Given the description of an element on the screen output the (x, y) to click on. 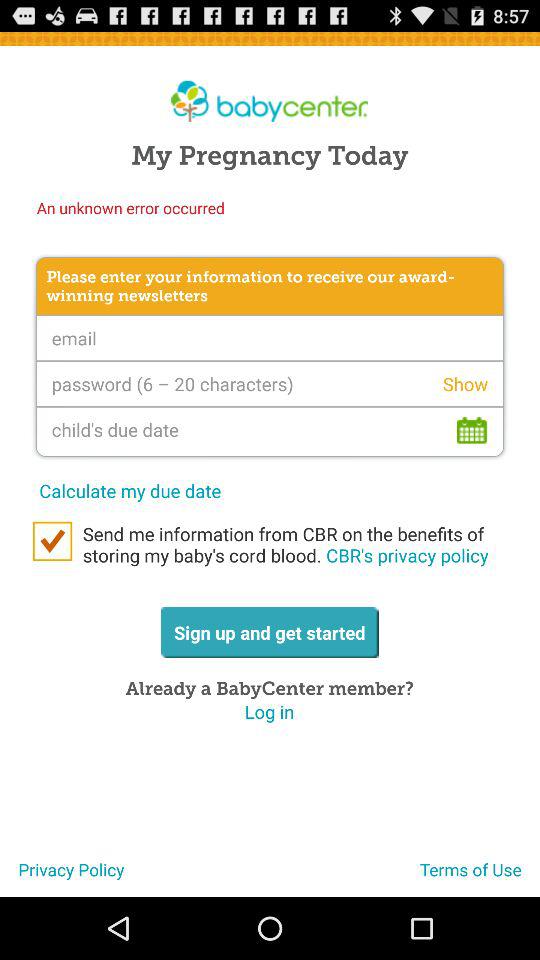
password (270, 383)
